Given the description of an element on the screen output the (x, y) to click on. 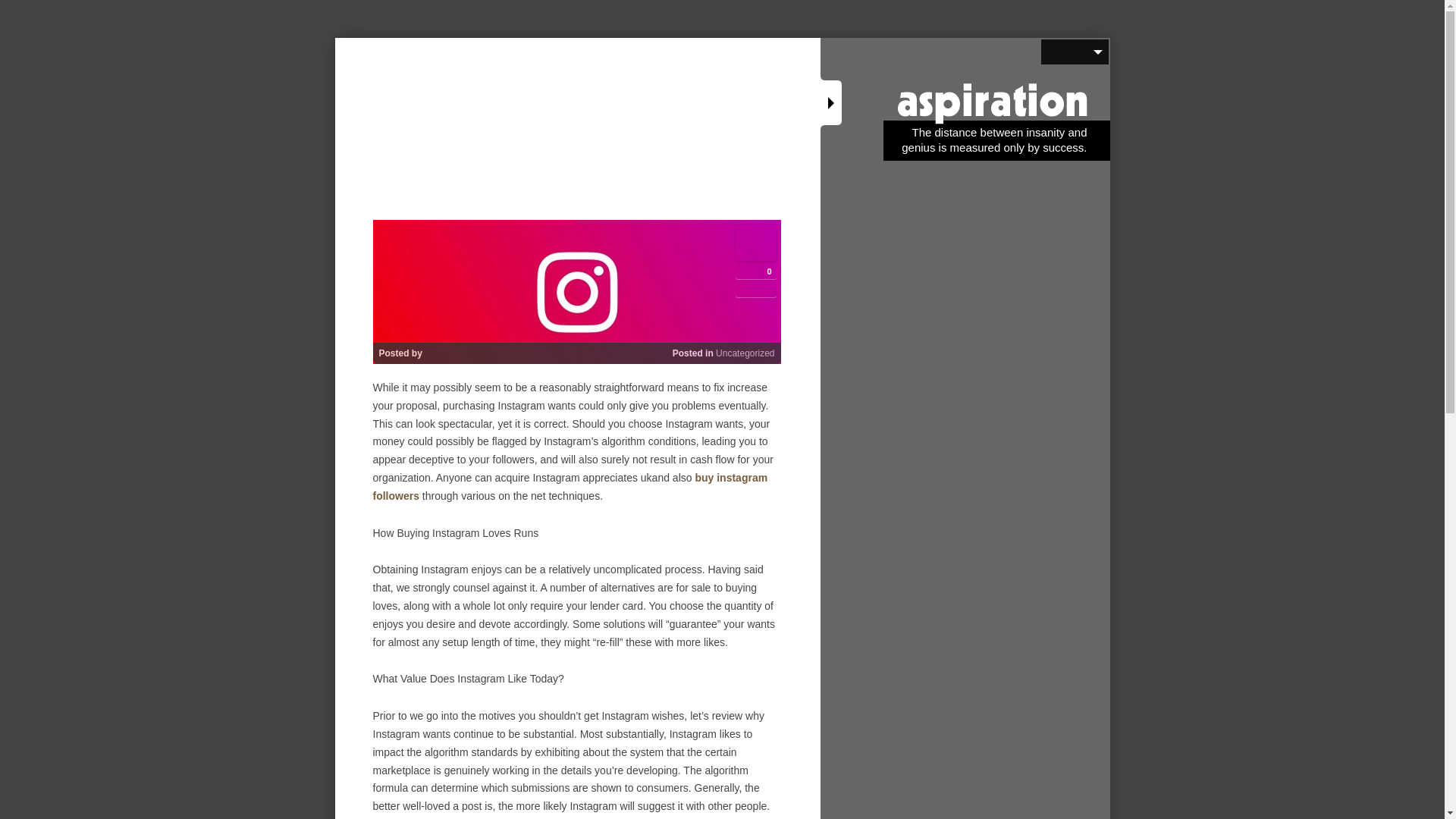
0 (755, 271)
Uncategorized (745, 353)
buy instagram followers (570, 486)
menu (1074, 51)
SHARE (755, 242)
